Given the description of an element on the screen output the (x, y) to click on. 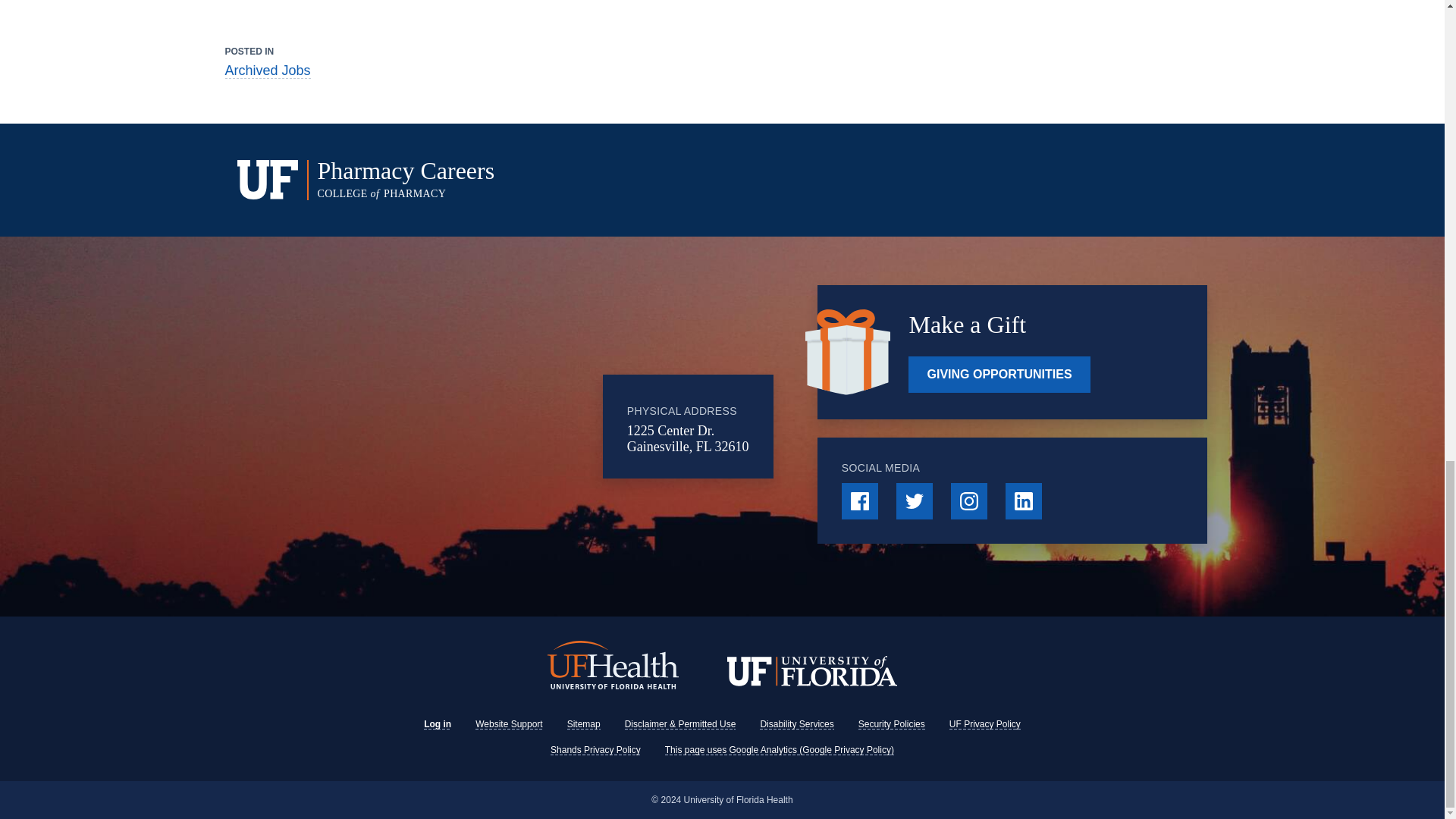
Website Support (509, 724)
Sitemap (583, 724)
Disability Services (796, 724)
Log in (437, 724)
Shands Privacy Policy (595, 749)
Google Maps Embed (478, 426)
UF Privacy Policy (984, 724)
Security Policies (891, 724)
Archived Jobs (267, 70)
